Given the description of an element on the screen output the (x, y) to click on. 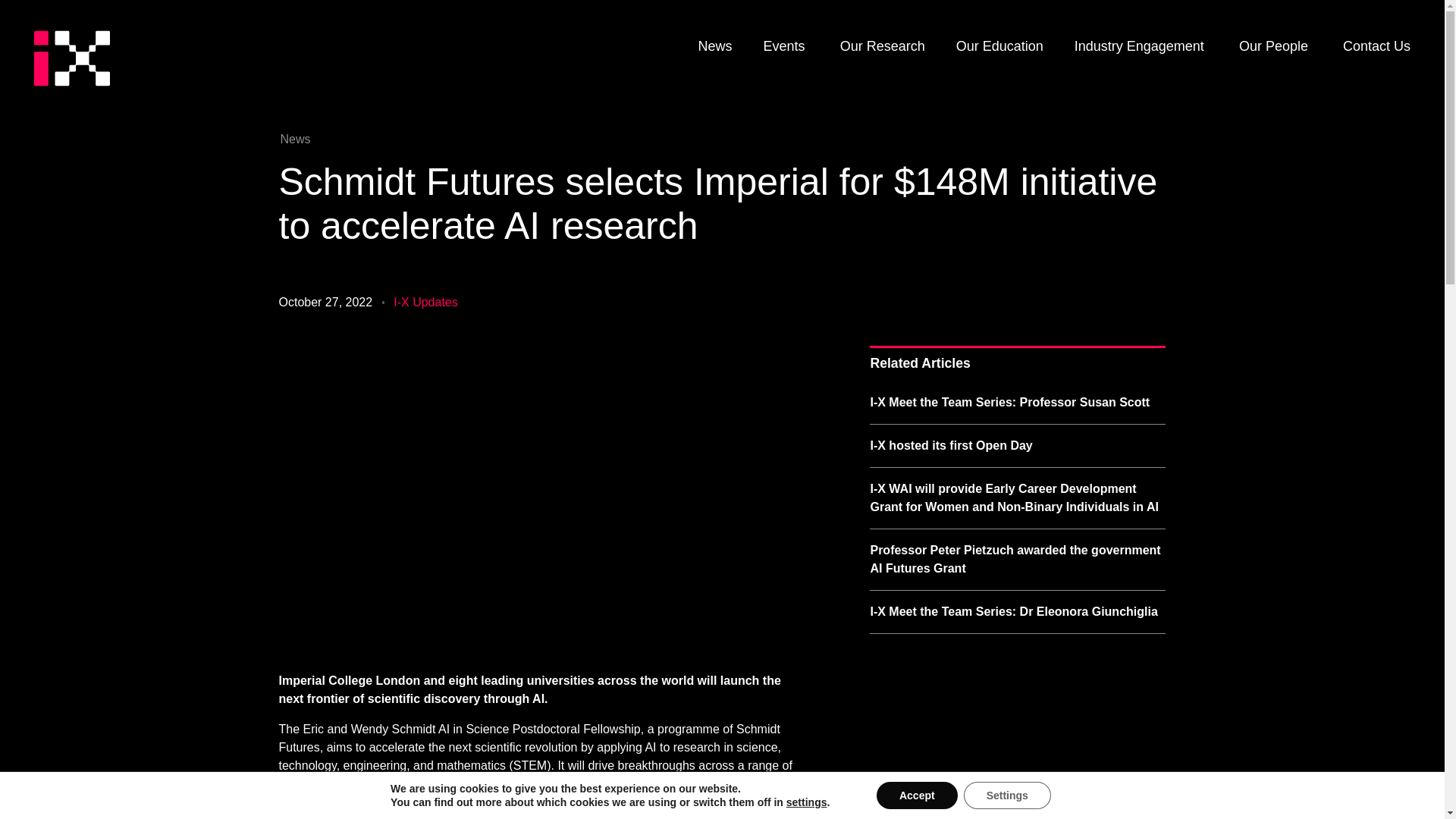
Imperial-X (71, 62)
Imperial-X (71, 64)
Our Education (999, 44)
I-X hosted its first Open Day (950, 445)
I-X Meet the Team Series: Professor Susan Scott (1009, 401)
Our People (1272, 44)
Our Research (881, 44)
I-X Updates (425, 301)
I-X Meet the Team Series: Dr Eleonora Giunchiglia (1013, 611)
